Given the description of an element on the screen output the (x, y) to click on. 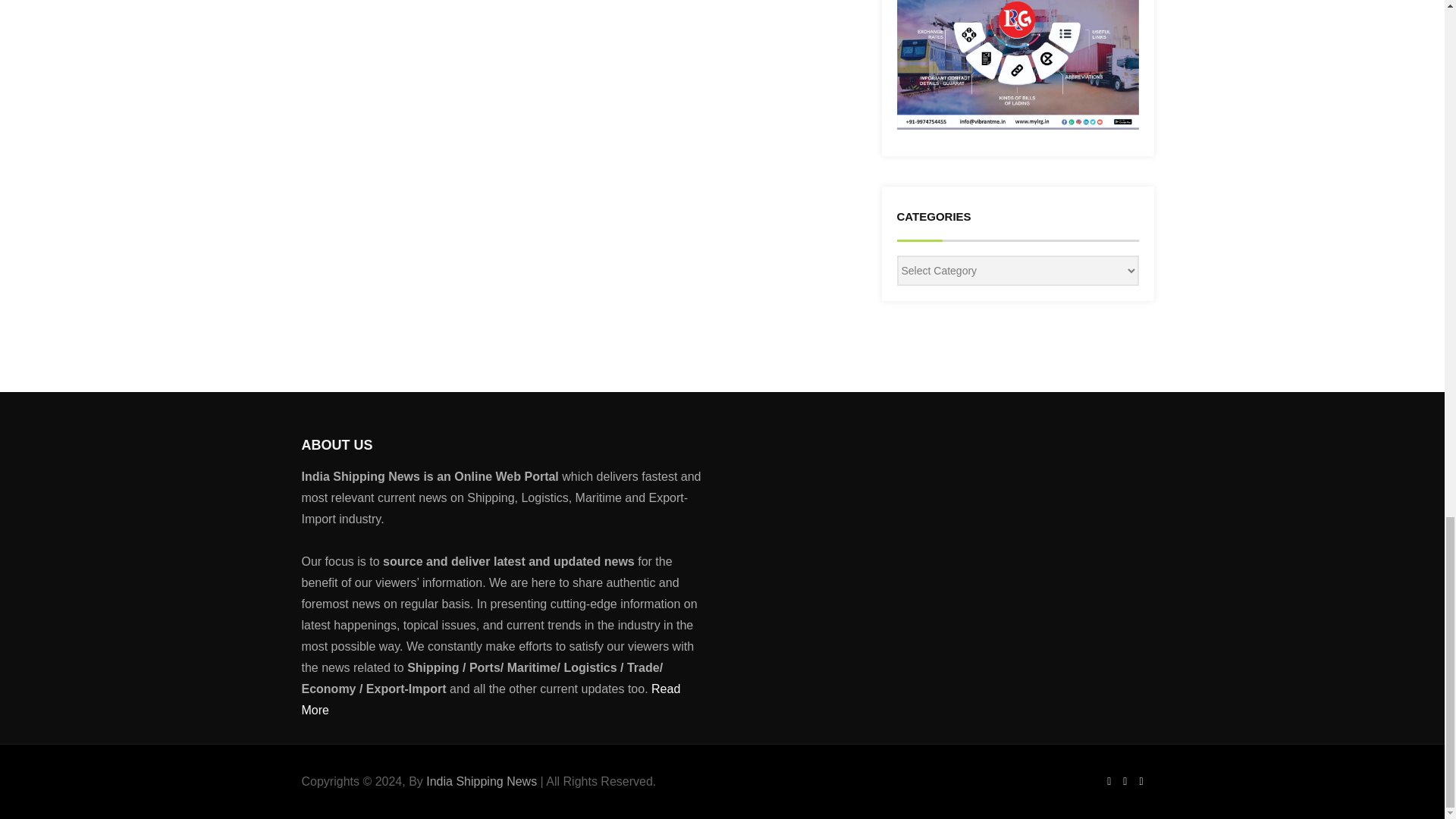
Facebook (1108, 780)
Subscribe E-Newsletter (894, 549)
